Given the description of an element on the screen output the (x, y) to click on. 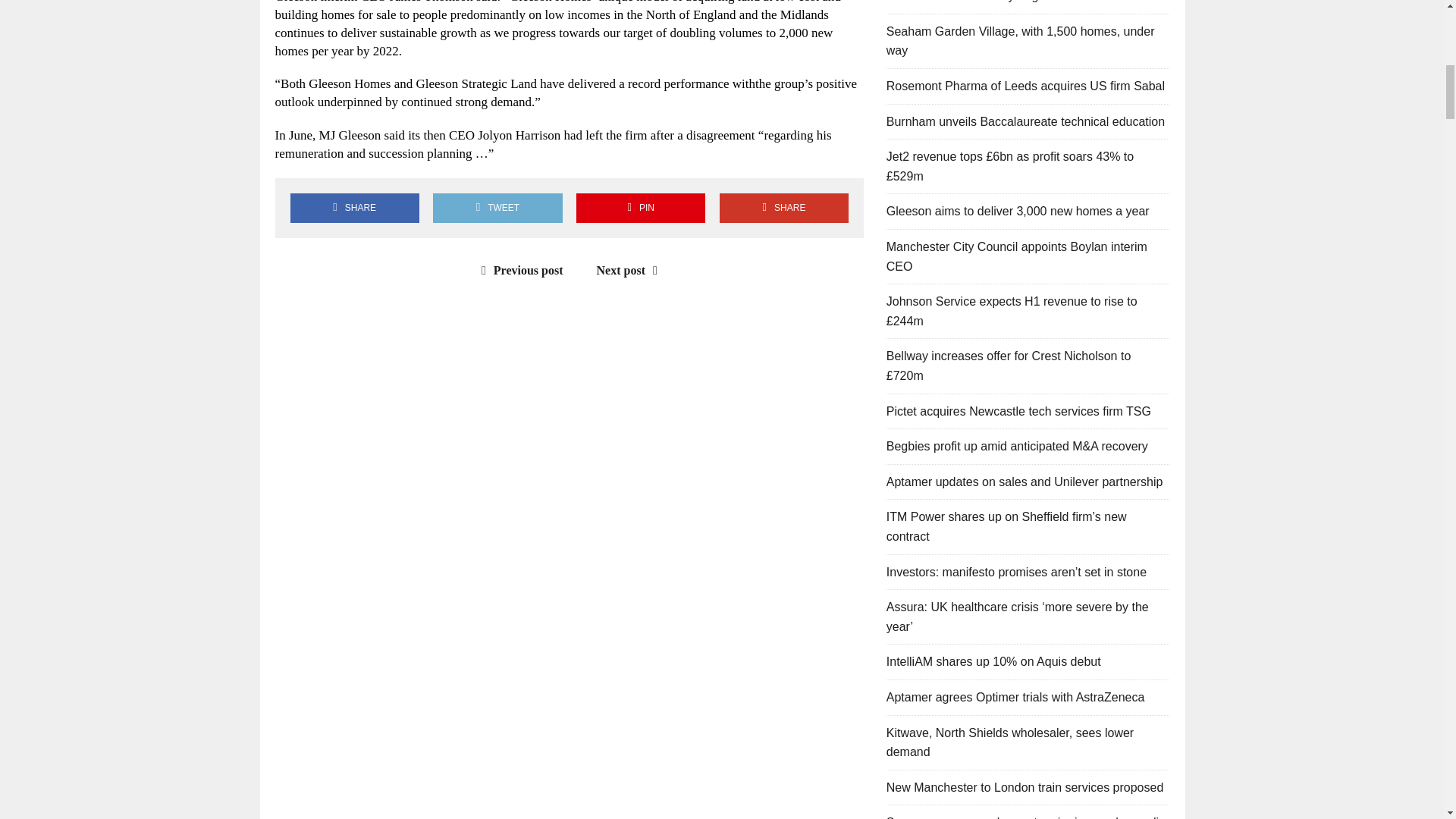
SHARE (354, 207)
Previous post (518, 269)
PIN (640, 207)
Share on Facebook (354, 207)
TWEET (497, 207)
Pin This Post (640, 207)
Tweet This Post (497, 207)
Next post (630, 269)
SHARE (783, 207)
